Given the description of an element on the screen output the (x, y) to click on. 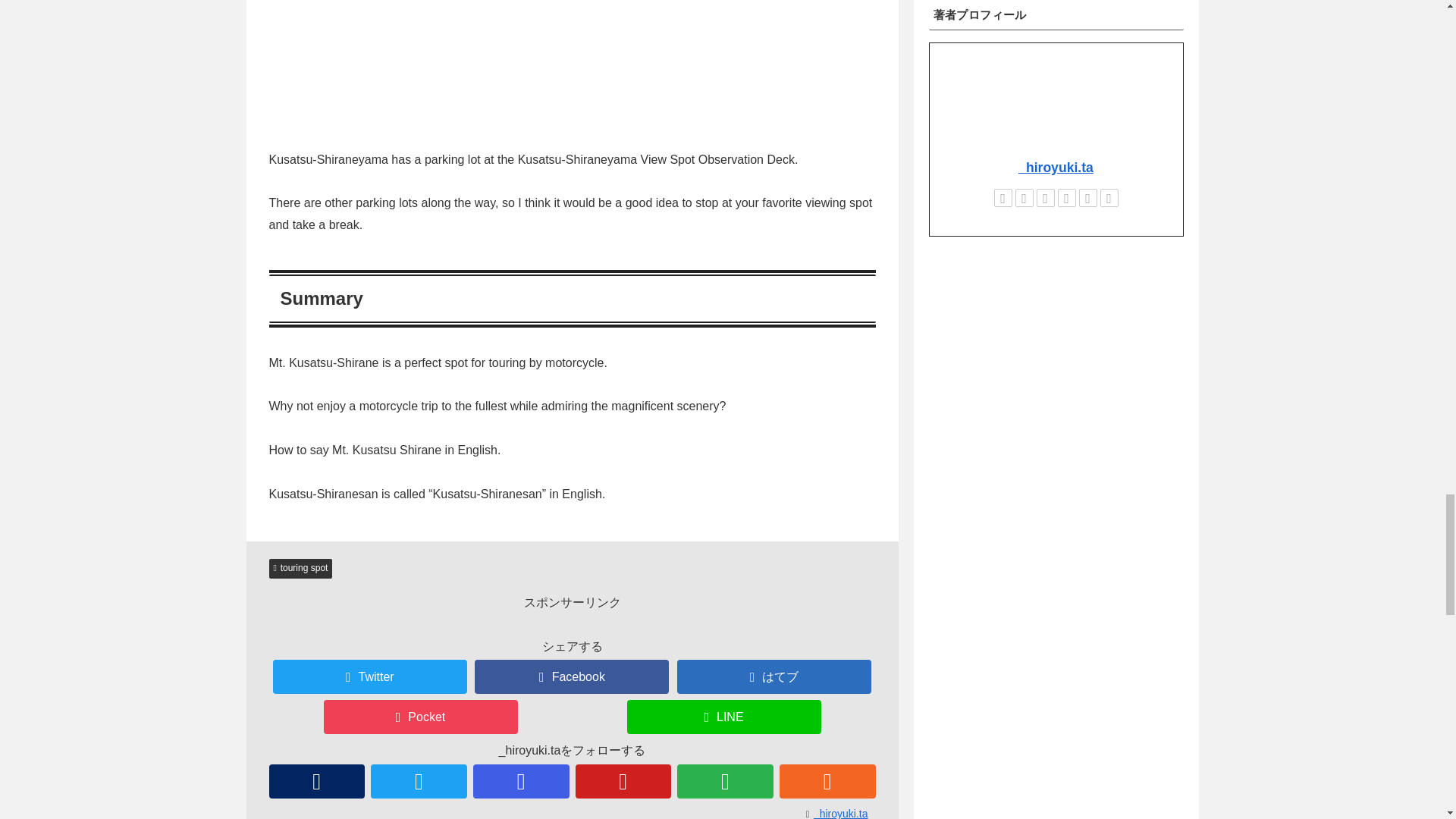
Twitter (370, 676)
Pocket (419, 716)
touring spot (299, 568)
Facebook (571, 676)
LINE (723, 716)
